Given the description of an element on the screen output the (x, y) to click on. 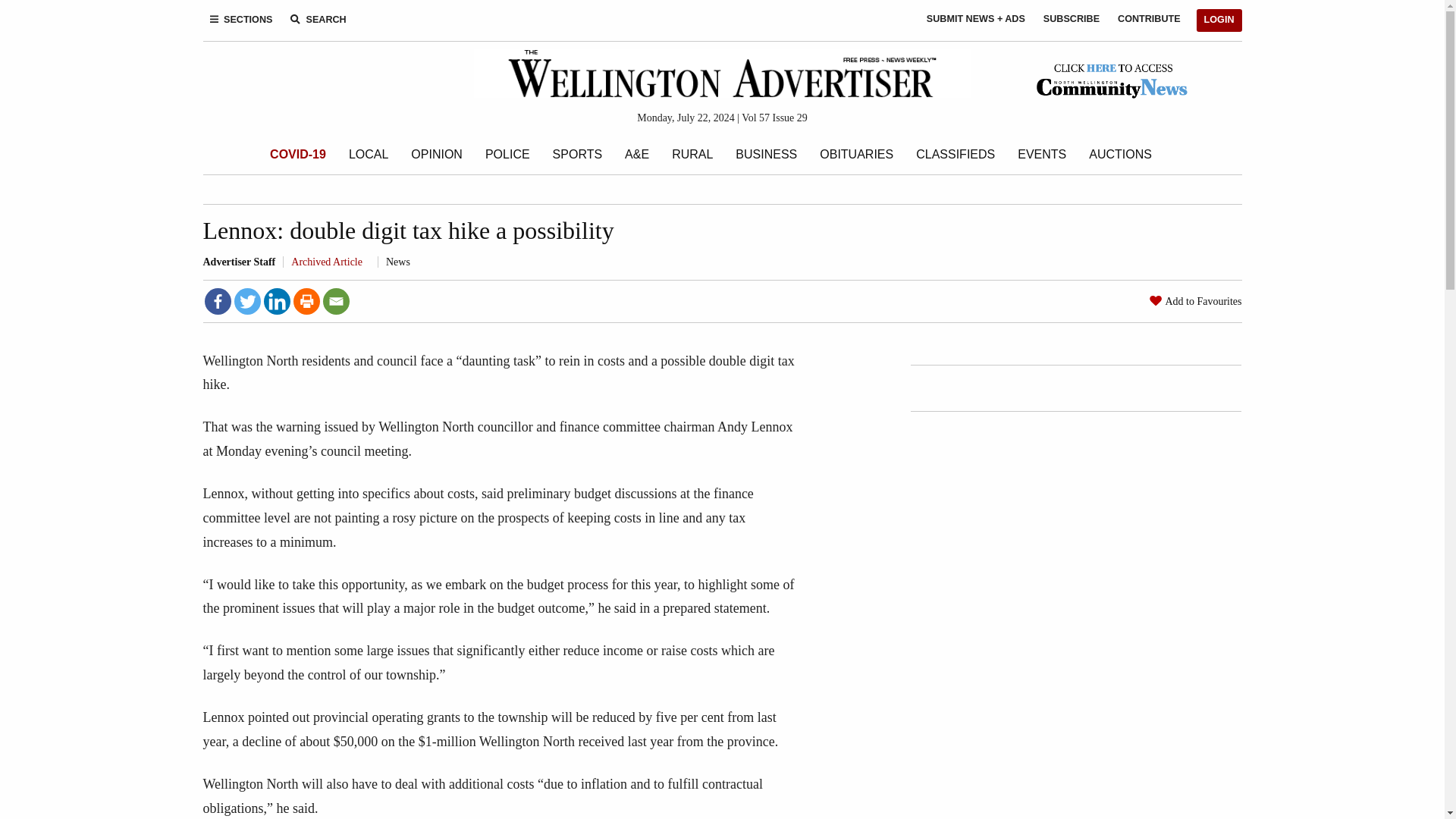
Favorite (1155, 300)
Linkedin (276, 301)
Print (305, 301)
Posts by Advertiser Staff (239, 261)
Facebook (218, 301)
Twitter (246, 301)
Email (336, 301)
